Given the description of an element on the screen output the (x, y) to click on. 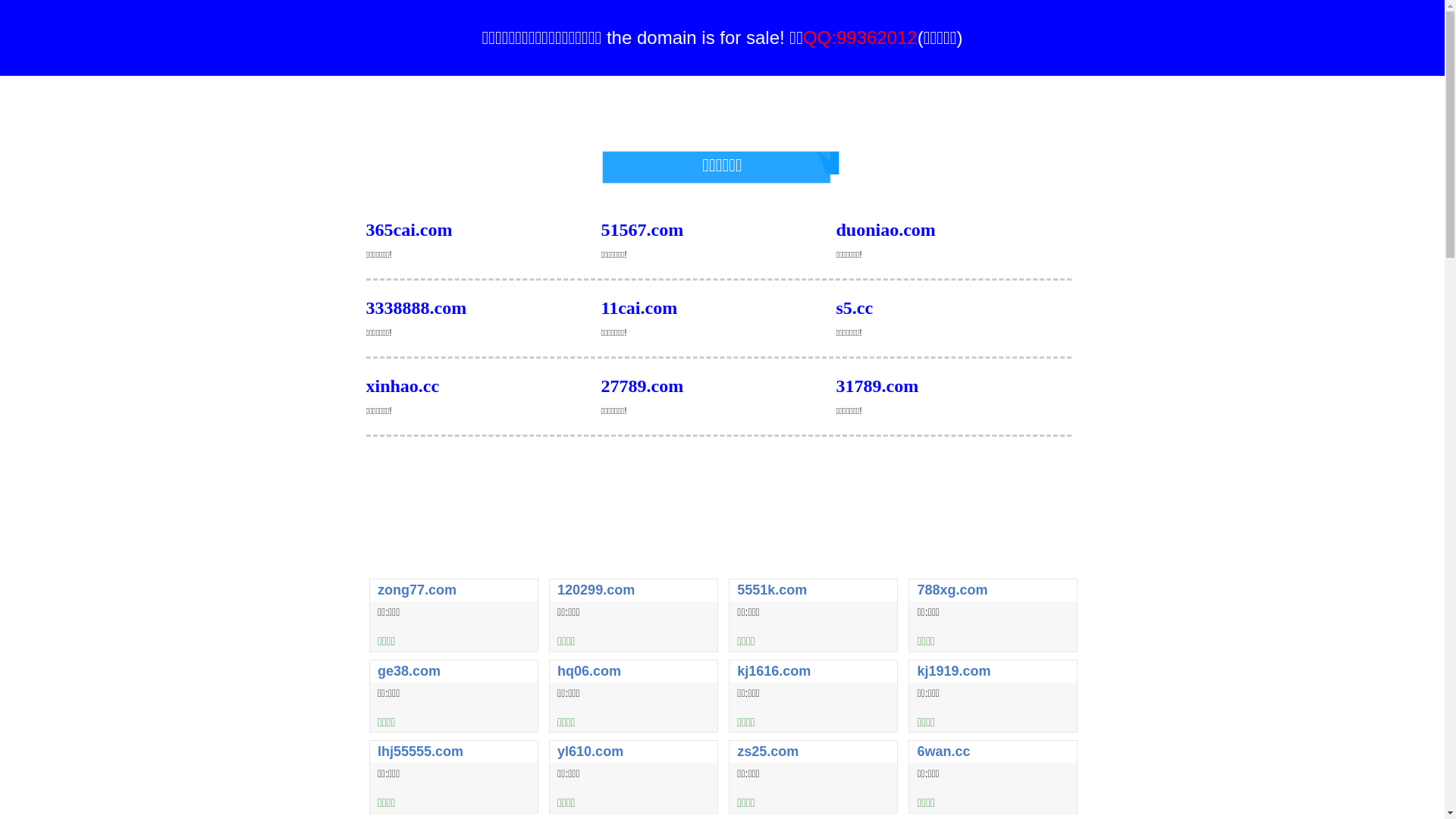
Advertisement Element type: hover (721, 109)
Advertisement Element type: hover (721, 475)
Advertisement Element type: hover (721, 534)
